Given the description of an element on the screen output the (x, y) to click on. 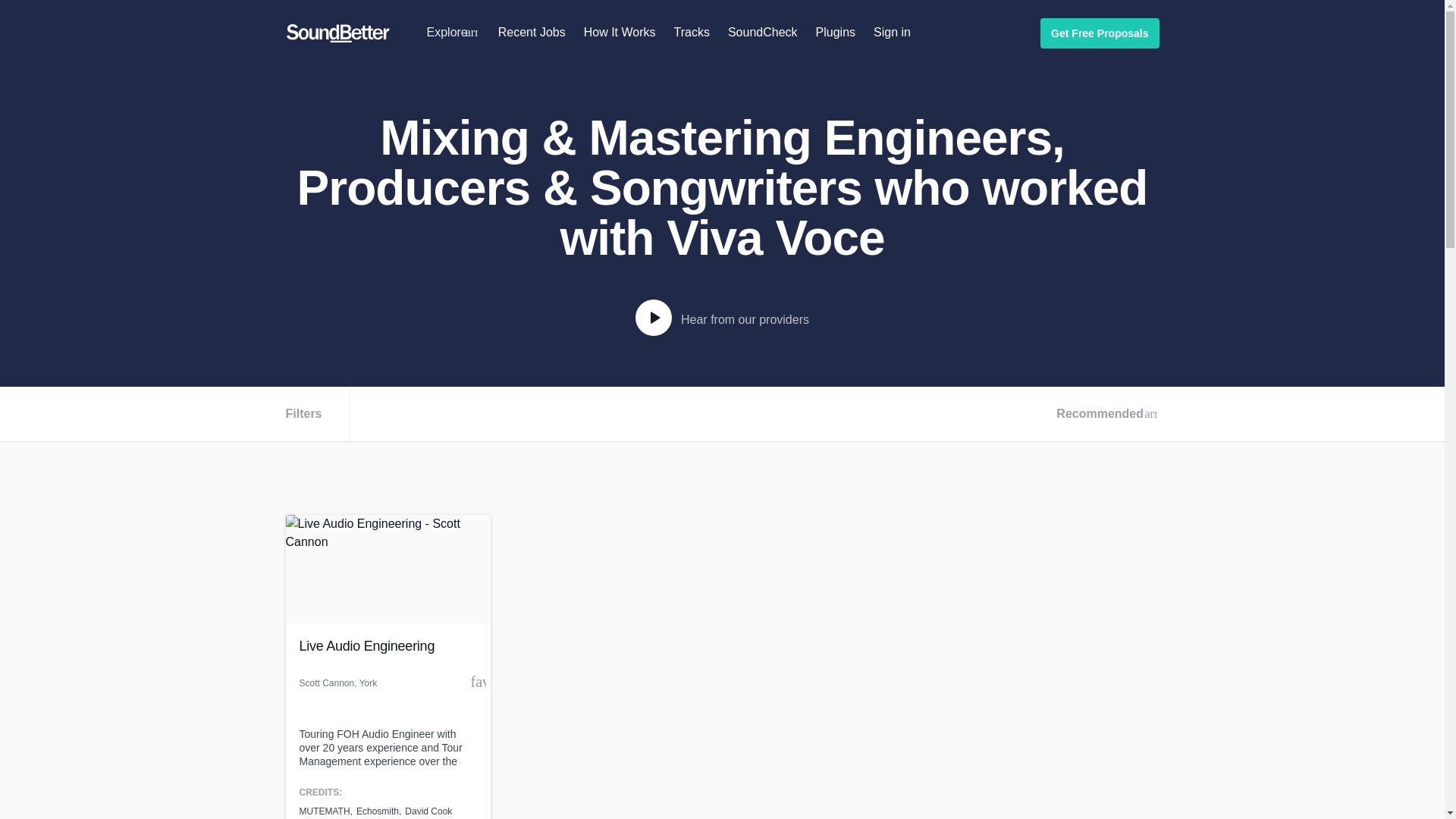
SoundBetter (337, 33)
